Given the description of an element on the screen output the (x, y) to click on. 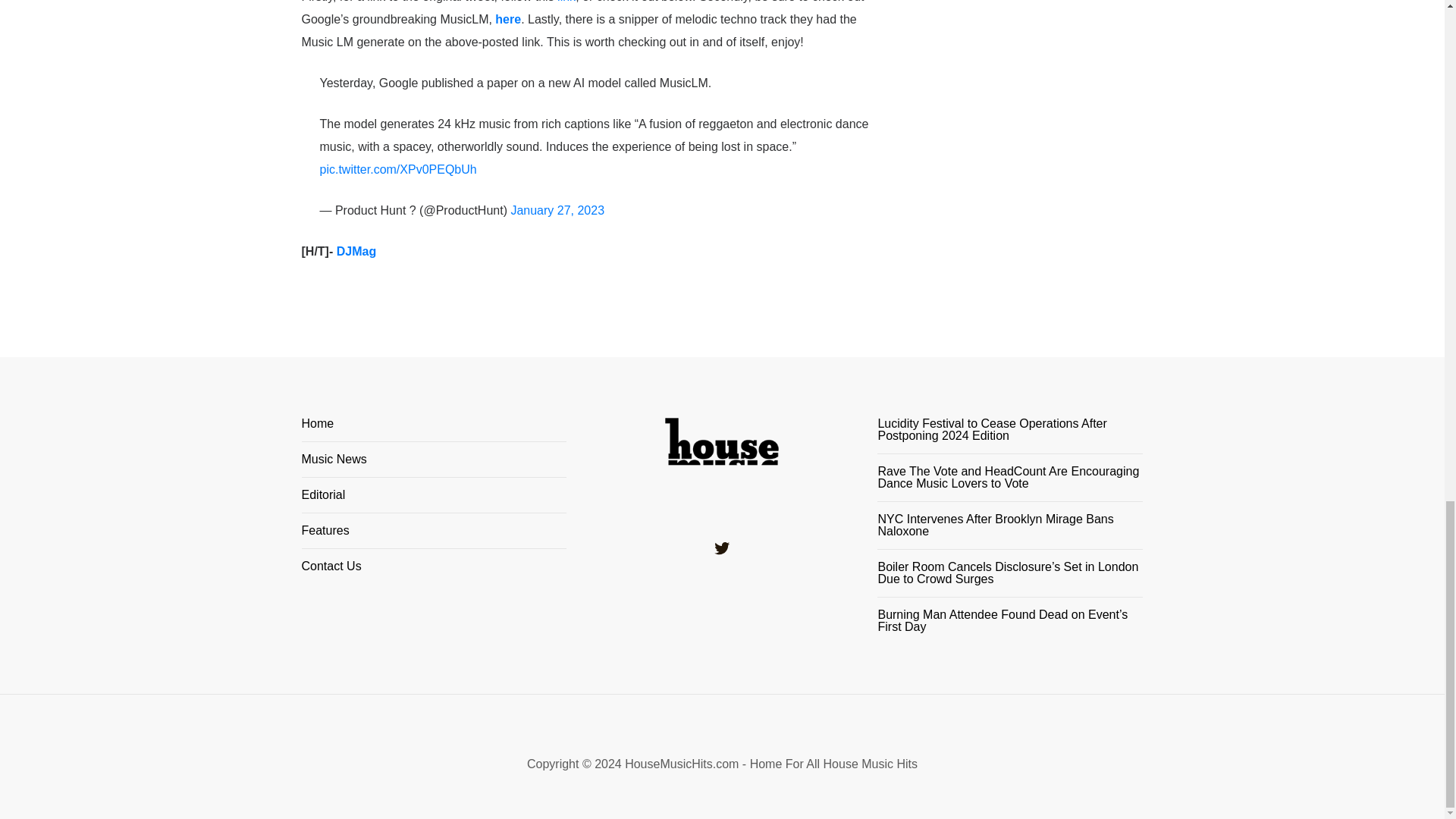
DJMag (355, 250)
Editorial (434, 500)
here (508, 19)
link (566, 1)
Music News (434, 465)
Features (434, 536)
Contact Us (434, 566)
NYC Intervenes After Brooklyn Mirage Bans Naloxone (1009, 525)
